Given the description of an element on the screen output the (x, y) to click on. 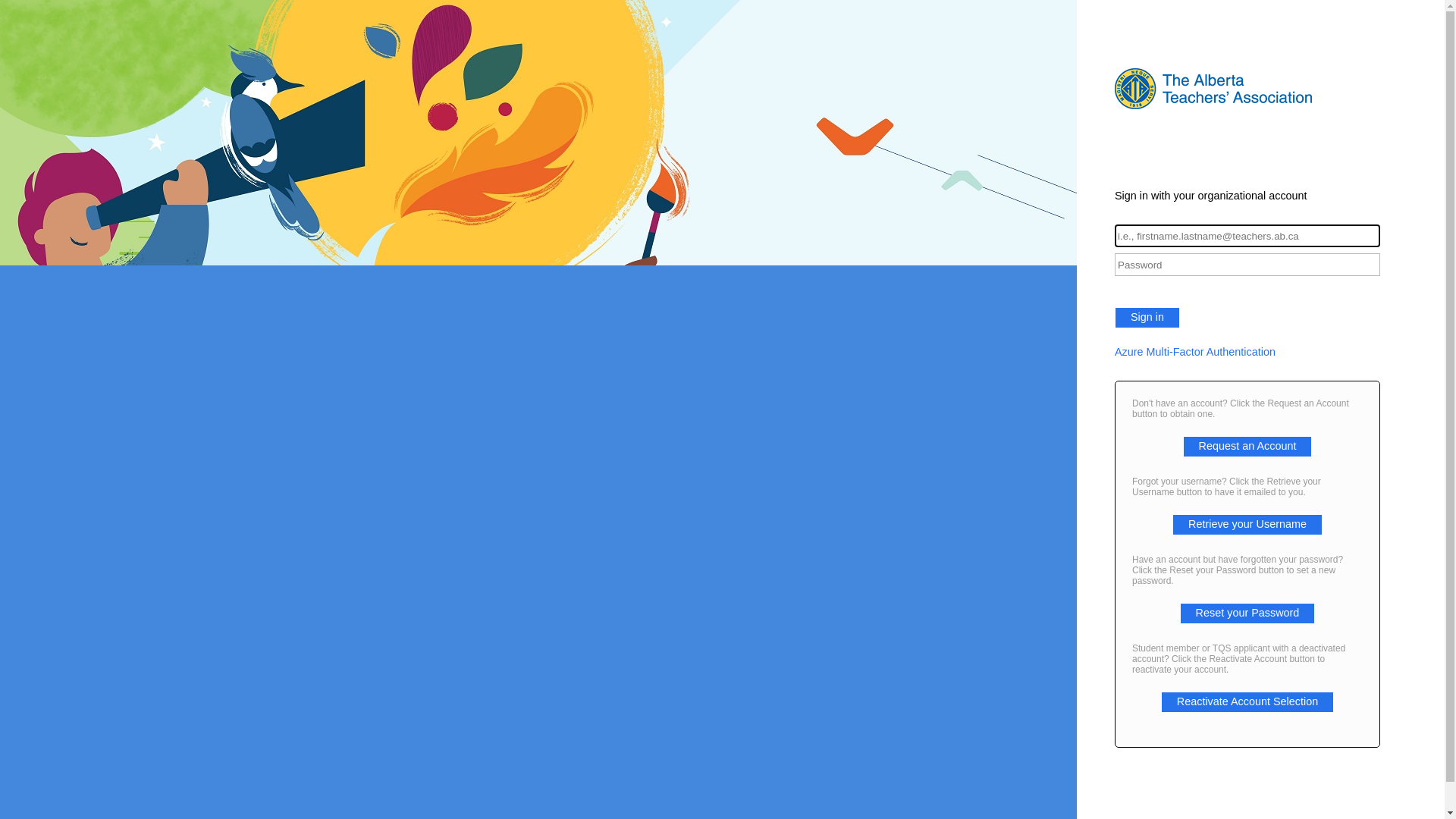
Azure Multi-Factor Authentication Element type: text (1247, 351)
Reactivate Account Selection Element type: text (1247, 701)
Reset your Password Element type: text (1247, 612)
Request an Account Element type: text (1247, 445)
Retrieve your Username Element type: text (1247, 523)
Sign in Element type: text (1146, 317)
